Given the description of an element on the screen output the (x, y) to click on. 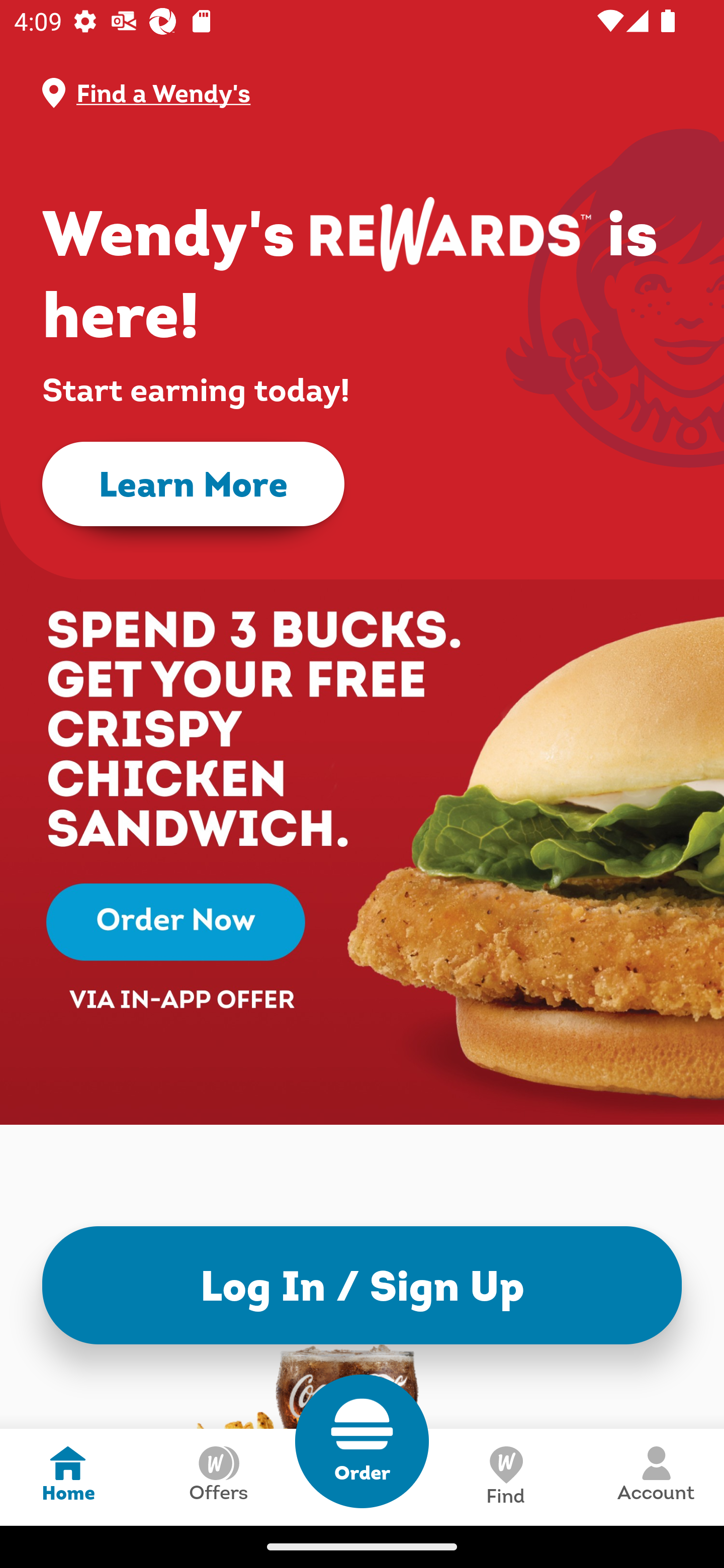
Find a Wendy's (378, 92)
Learn More (192, 484)
Campaign image (362, 807)
Log In / Sign Up (361, 1284)
Order,3 of 5 Order (361, 1441)
Home,1 of 5 Home (68, 1476)
Rewards,2 of 5 Offers Offers (218, 1476)
Scan,4 of 5 Find Find (505, 1476)
Account,5 of 5 Account (655, 1476)
